Given the description of an element on the screen output the (x, y) to click on. 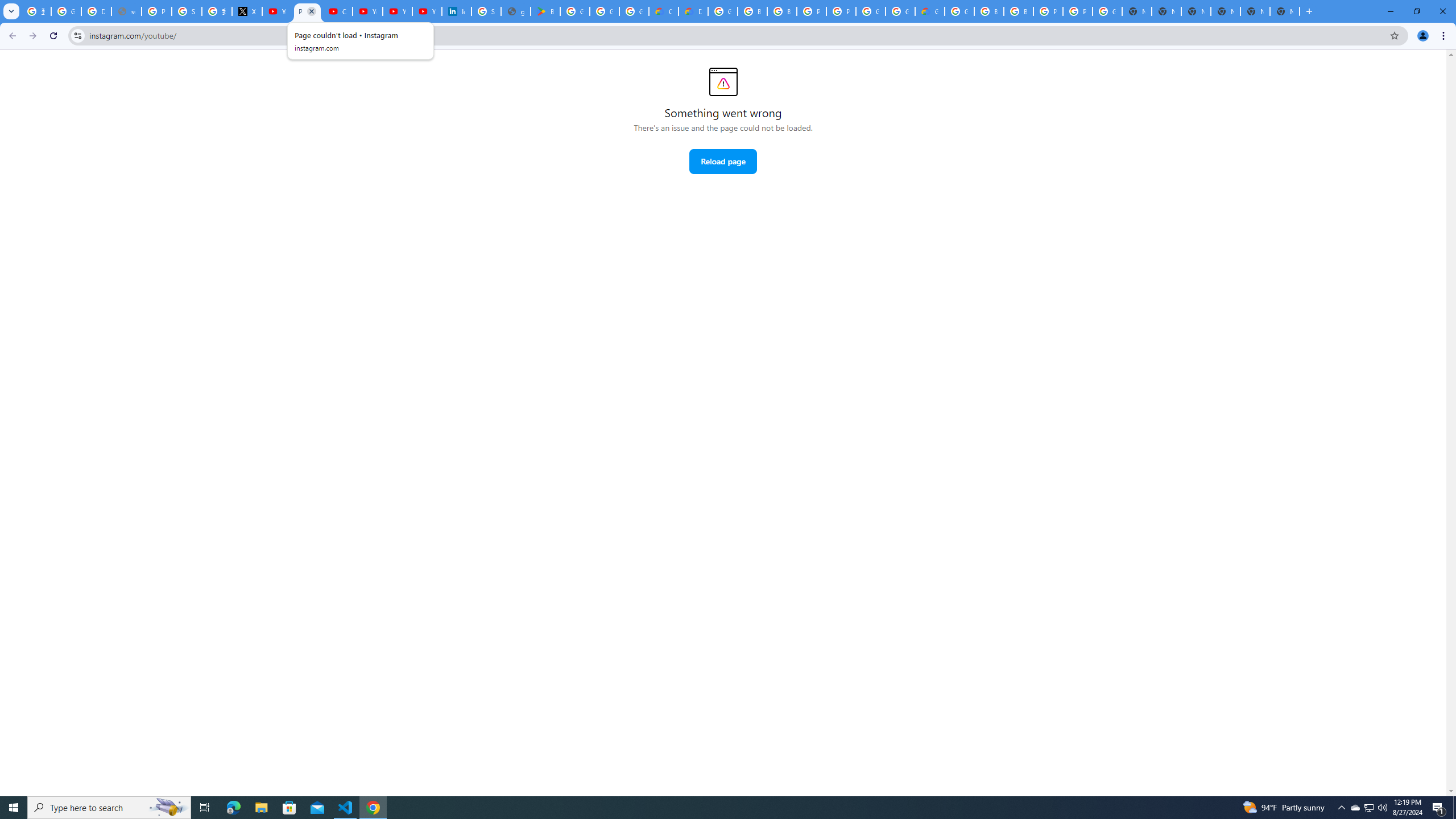
Google Cloud Estimate Summary (929, 11)
YouTube Culture & Trends - YouTube Top 10, 2021 (397, 11)
YouTube Culture & Trends - YouTube Top 10, 2021 (426, 11)
google_privacy_policy_en.pdf (515, 11)
Customer Care | Google Cloud (663, 11)
